Given the description of an element on the screen output the (x, y) to click on. 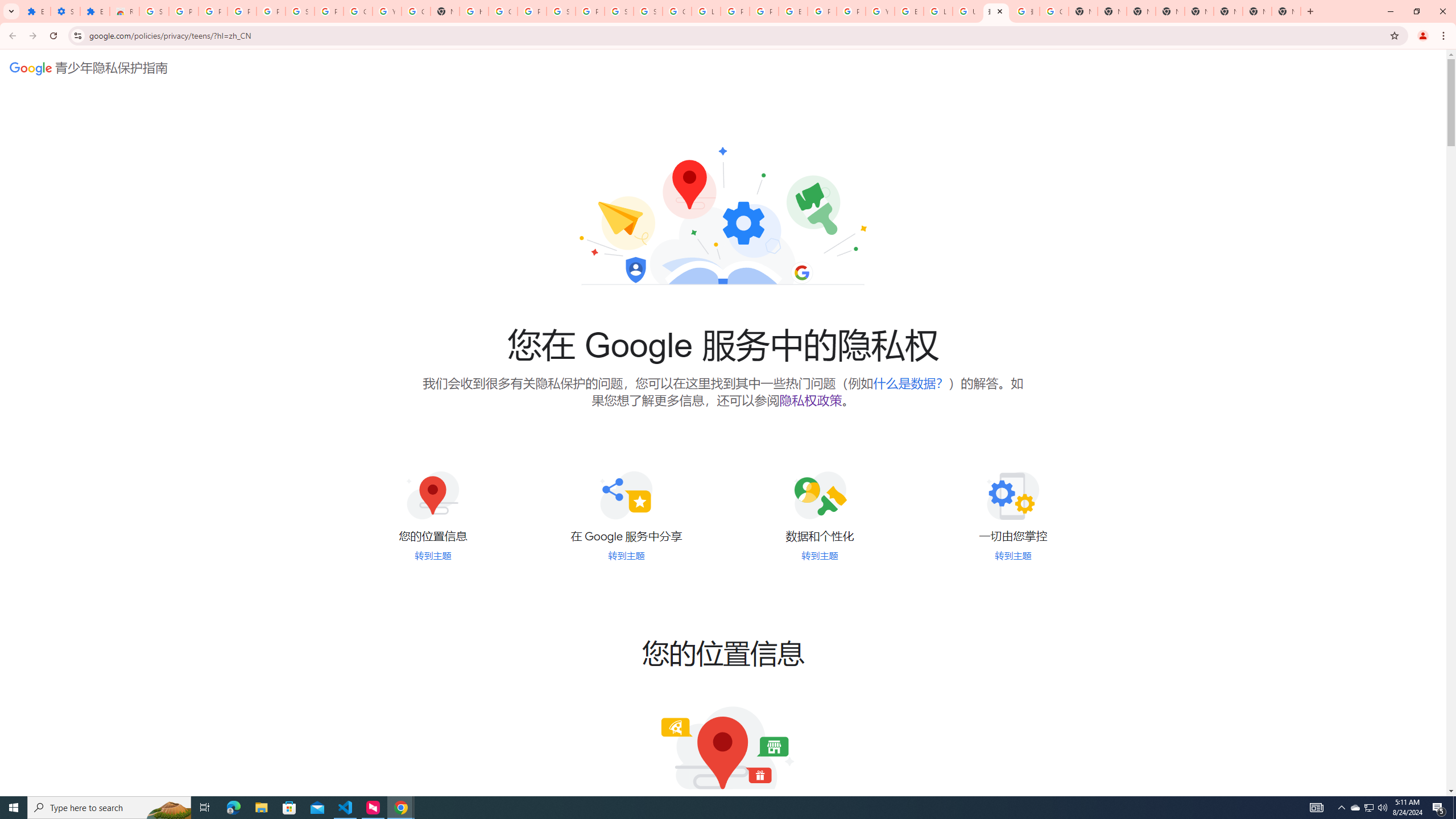
Sign in - Google Accounts (300, 11)
New Tab (1227, 11)
Reviews: Helix Fruit Jump Arcade Game (124, 11)
